Given the description of an element on the screen output the (x, y) to click on. 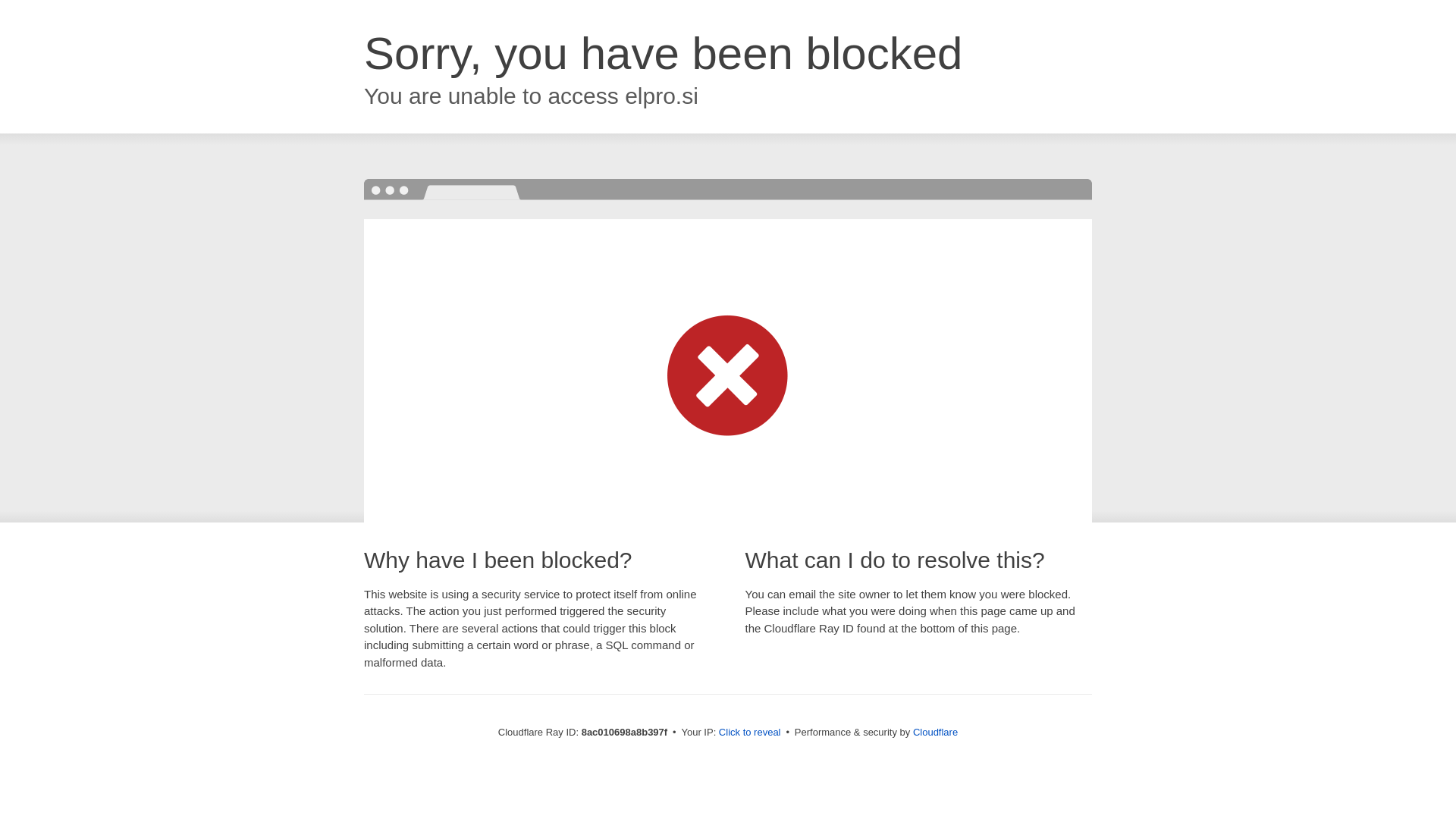
Cloudflare (935, 731)
Click to reveal (749, 732)
